Given the description of an element on the screen output the (x, y) to click on. 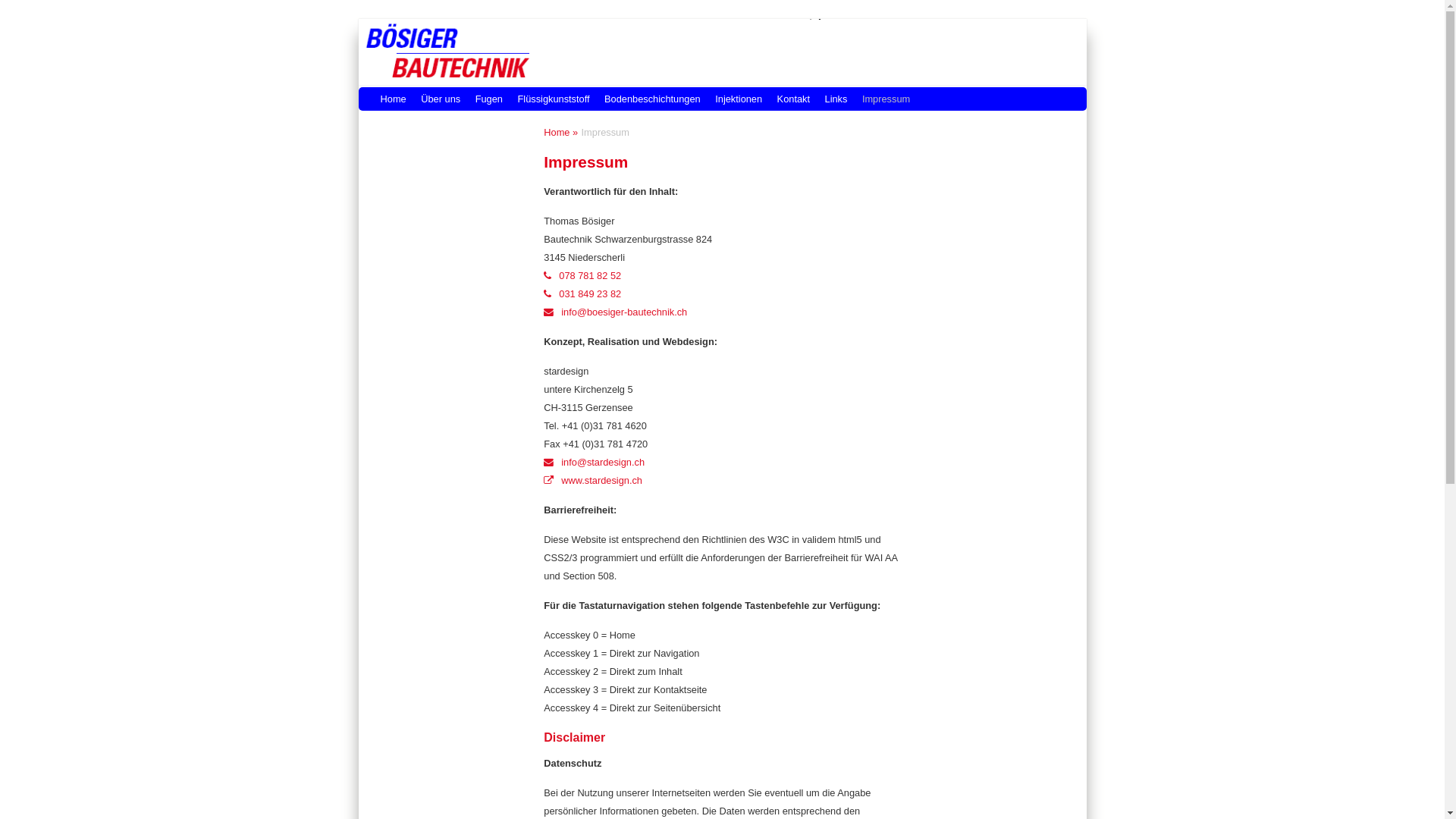
Fugen Element type: text (484, 98)
info@stardesign.ch Element type: text (593, 461)
Bodenbeschichtungen Element type: text (648, 98)
031 849 23 82 Element type: text (582, 293)
Kontakt Element type: text (789, 98)
Links Element type: text (832, 98)
info@boesiger-bautechnik.ch Element type: text (615, 311)
Impressum Element type: text (882, 98)
www.stardesign.ch Element type: text (598, 480)
Injektionen Element type: text (735, 98)
Home Element type: text (389, 98)
078 781 82 52 Element type: text (582, 275)
